Given the description of an element on the screen output the (x, y) to click on. 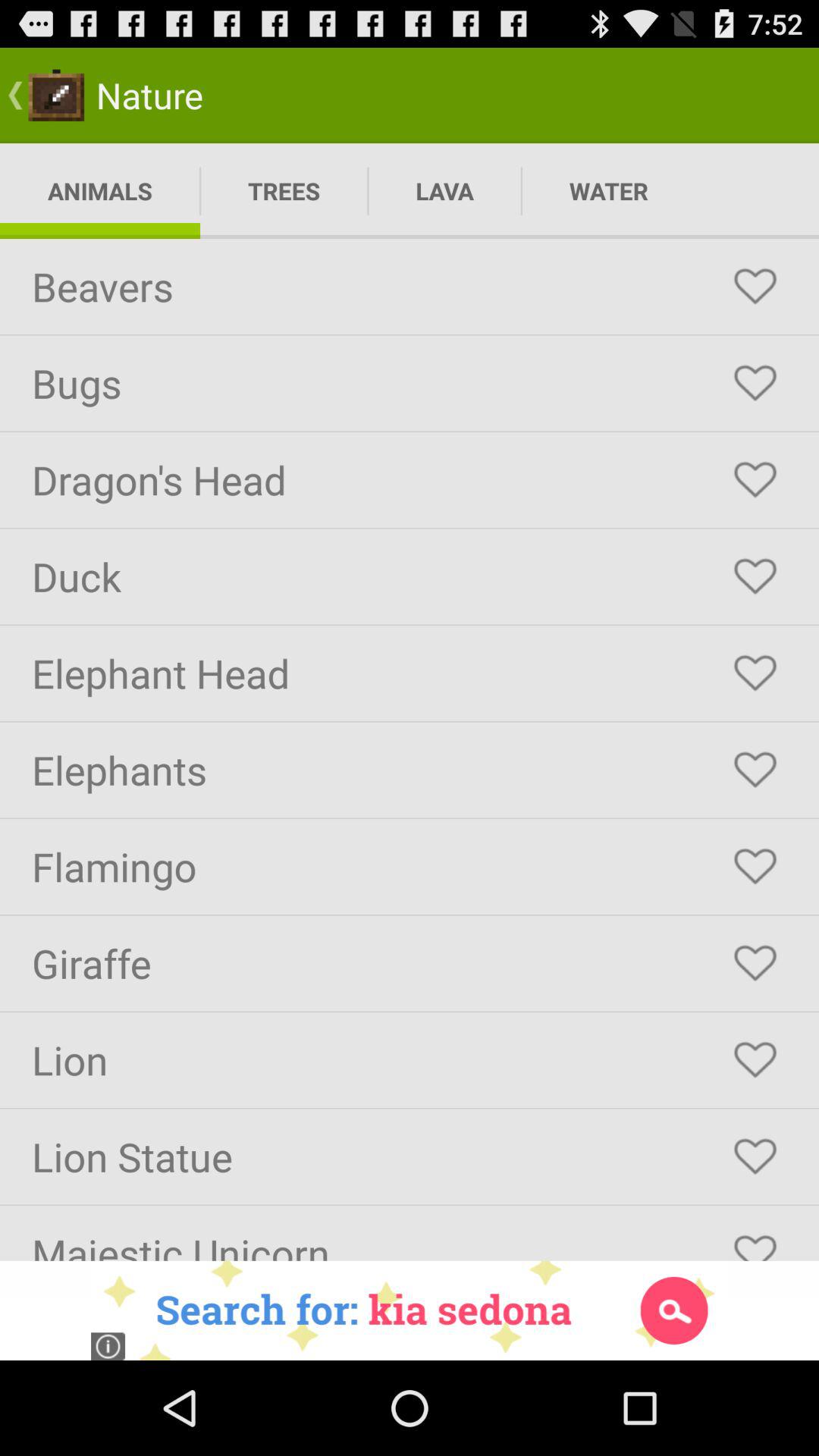
select the favorite icon in the second block (755, 383)
